Given the description of an element on the screen output the (x, y) to click on. 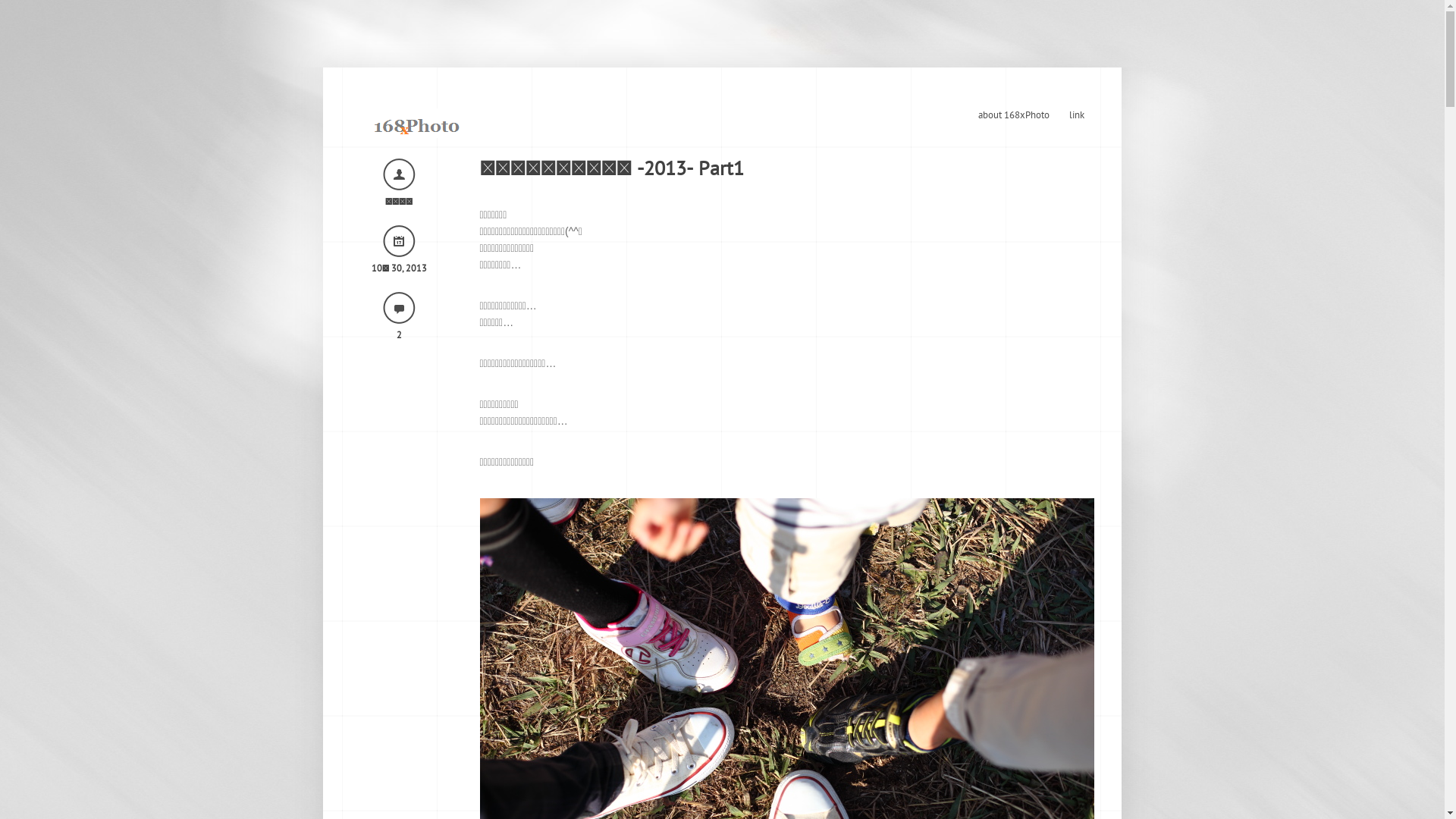
2 Element type: text (398, 334)
link Element type: text (1075, 115)
168xphoto Element type: hover (416, 123)
about 168xPhoto Element type: text (1012, 115)
